Given the description of an element on the screen output the (x, y) to click on. 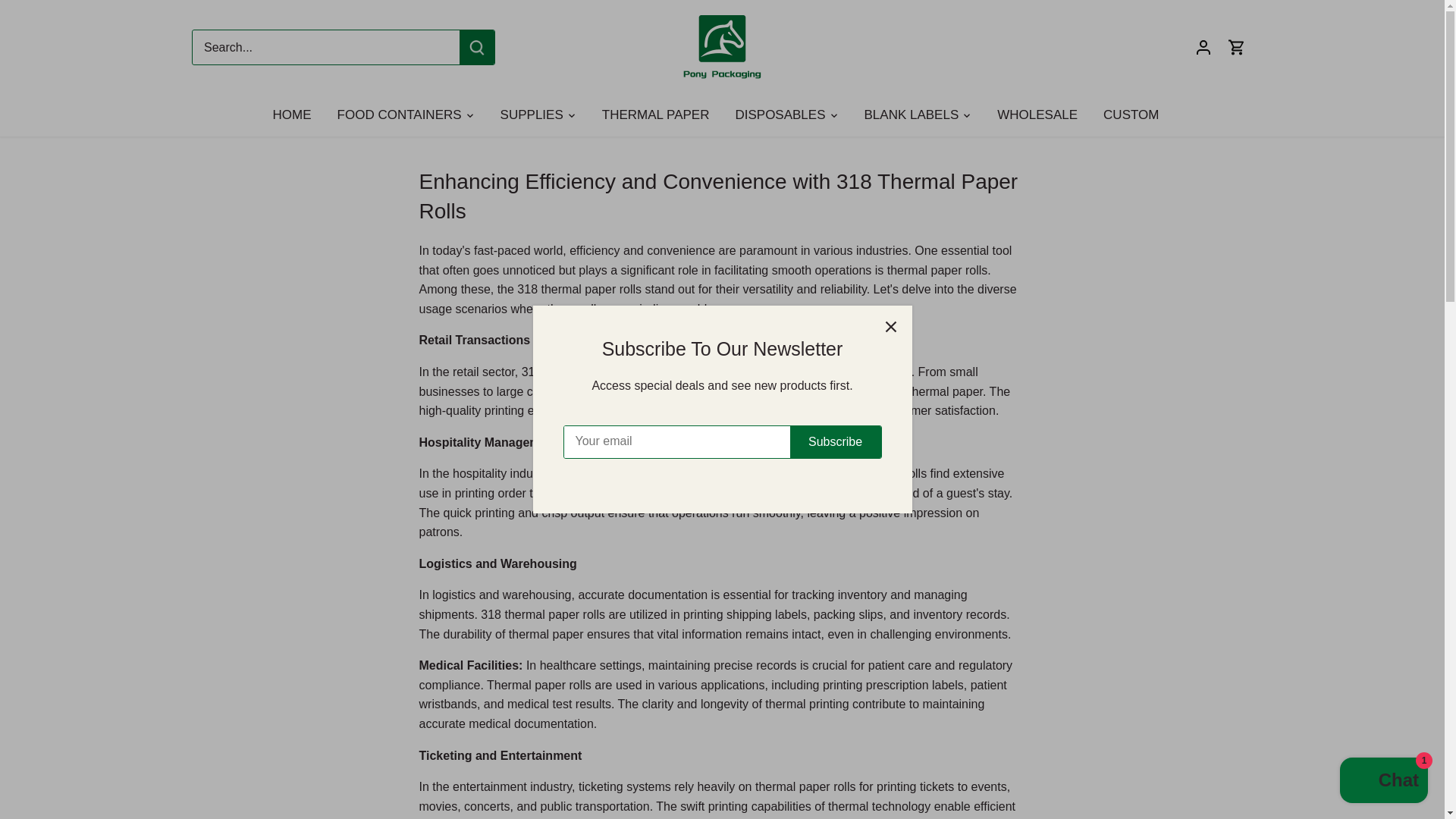
FOOD CONTAINERS (399, 115)
HOME (298, 115)
Shopify online store chat (1383, 781)
